Given the description of an element on the screen output the (x, y) to click on. 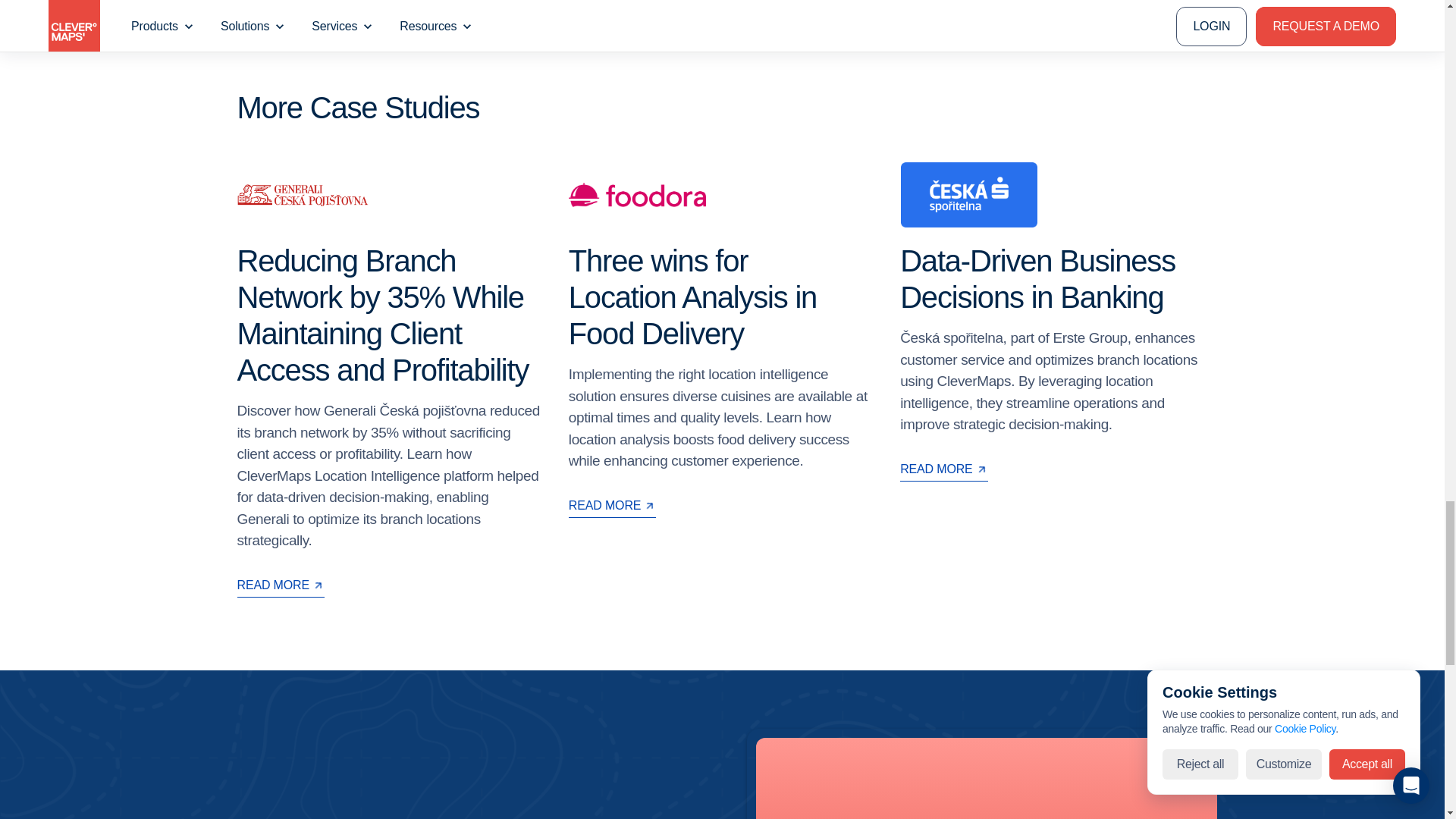
READ MORE (279, 586)
READ MORE (612, 506)
READ MORE (943, 470)
